Given the description of an element on the screen output the (x, y) to click on. 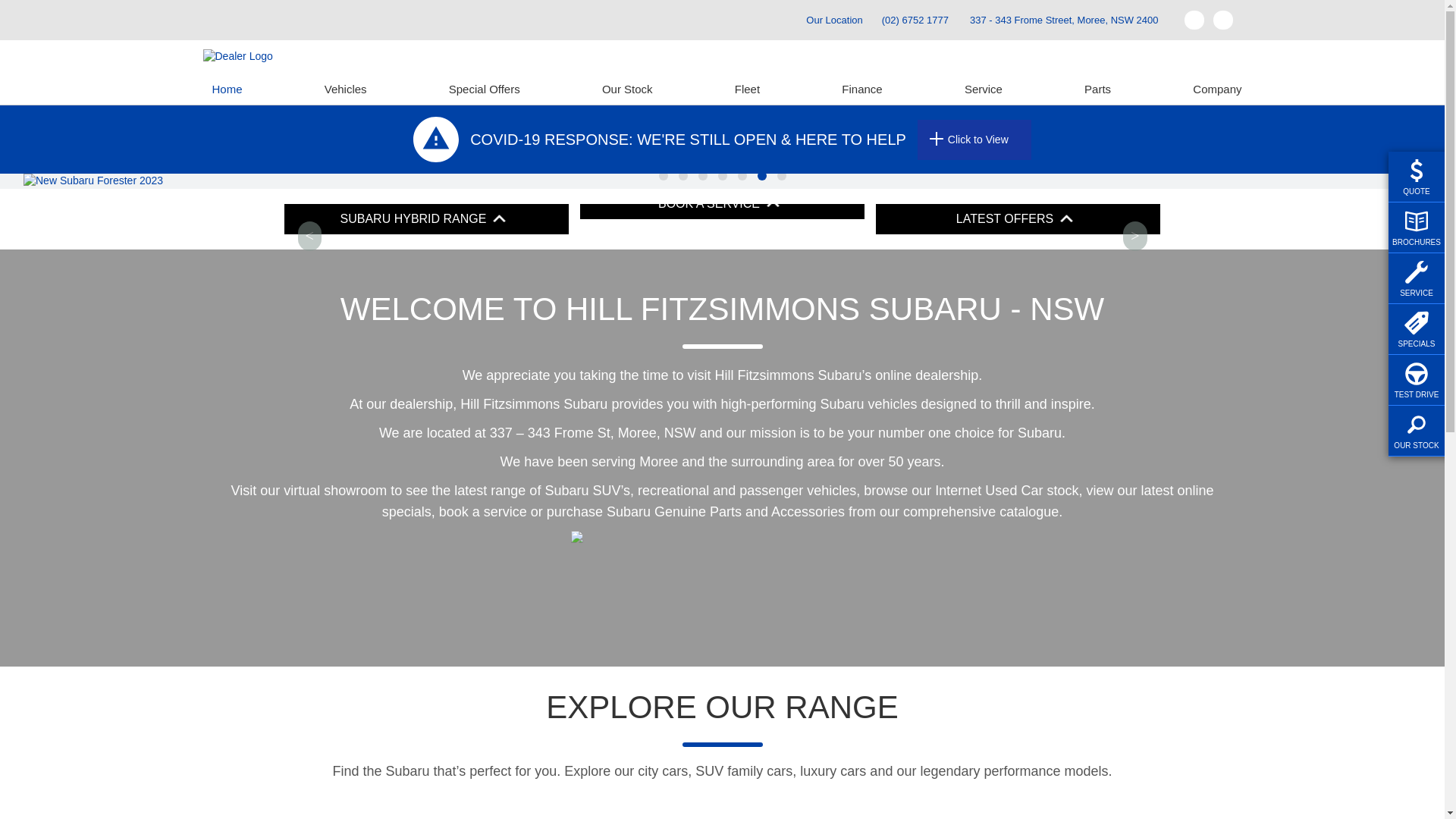
Search our stock online today at Hill Fitzsimmons Subaru Element type: hover (1062, 211)
Service Element type: text (983, 88)
Special Offers Element type: text (484, 88)
Home Element type: text (227, 88)
GooglePlus Element type: text (1223, 19)
Company Element type: text (1212, 88)
(02) 6752 1777 Element type: text (914, 19)
Finance Element type: text (861, 88)
Our Location Element type: text (827, 19)
Fleet Element type: text (746, 88)
Parts Element type: text (1097, 88)
Our Stock Element type: text (627, 88)
Vehicles Element type: text (345, 88)
Facebook Element type: text (1194, 19)
337 - 343 Frome Street, Moree, NSW 2400 Element type: text (1063, 19)
